Given the description of an element on the screen output the (x, y) to click on. 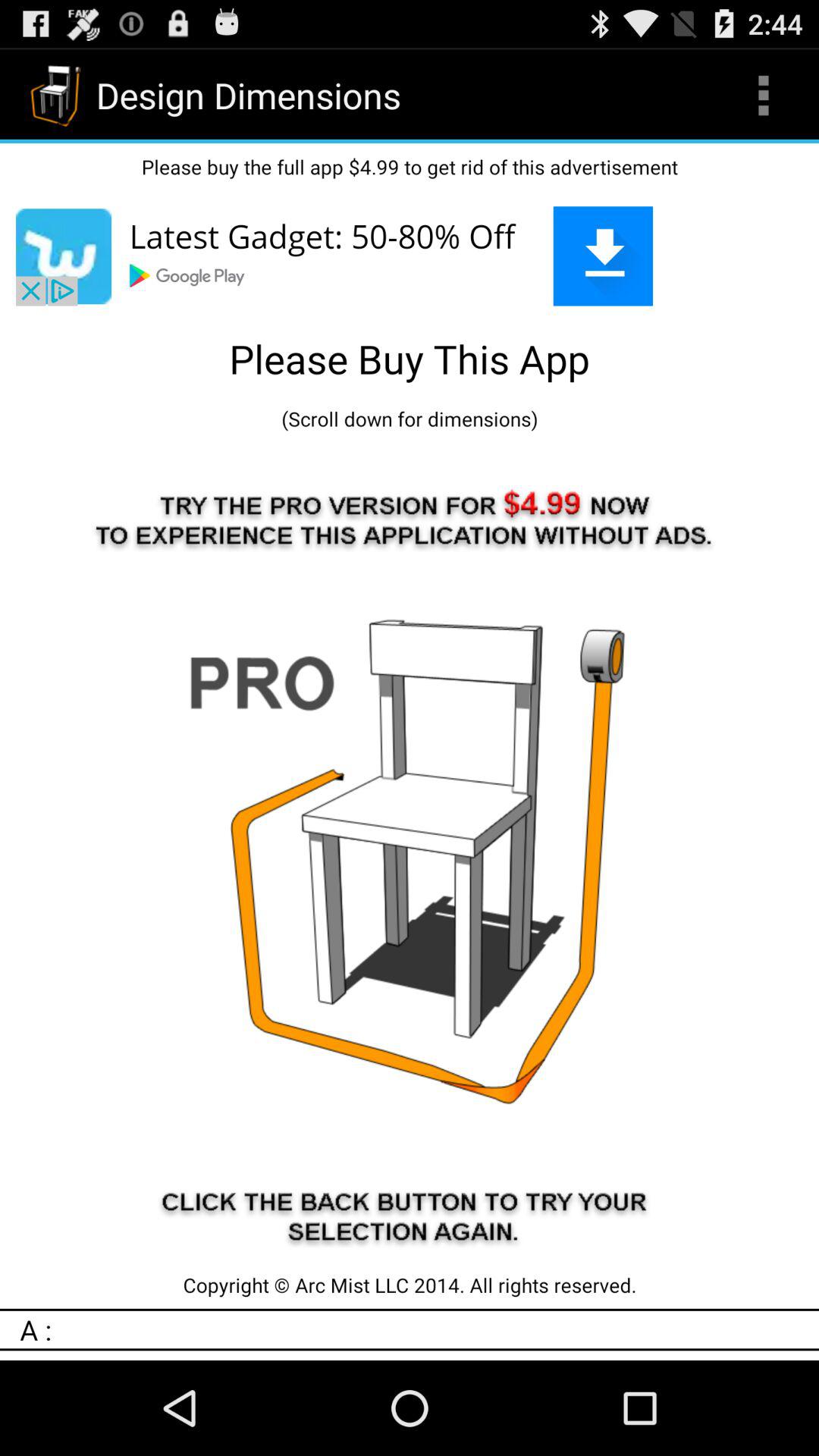
choose item below scroll down for (409, 851)
